Given the description of an element on the screen output the (x, y) to click on. 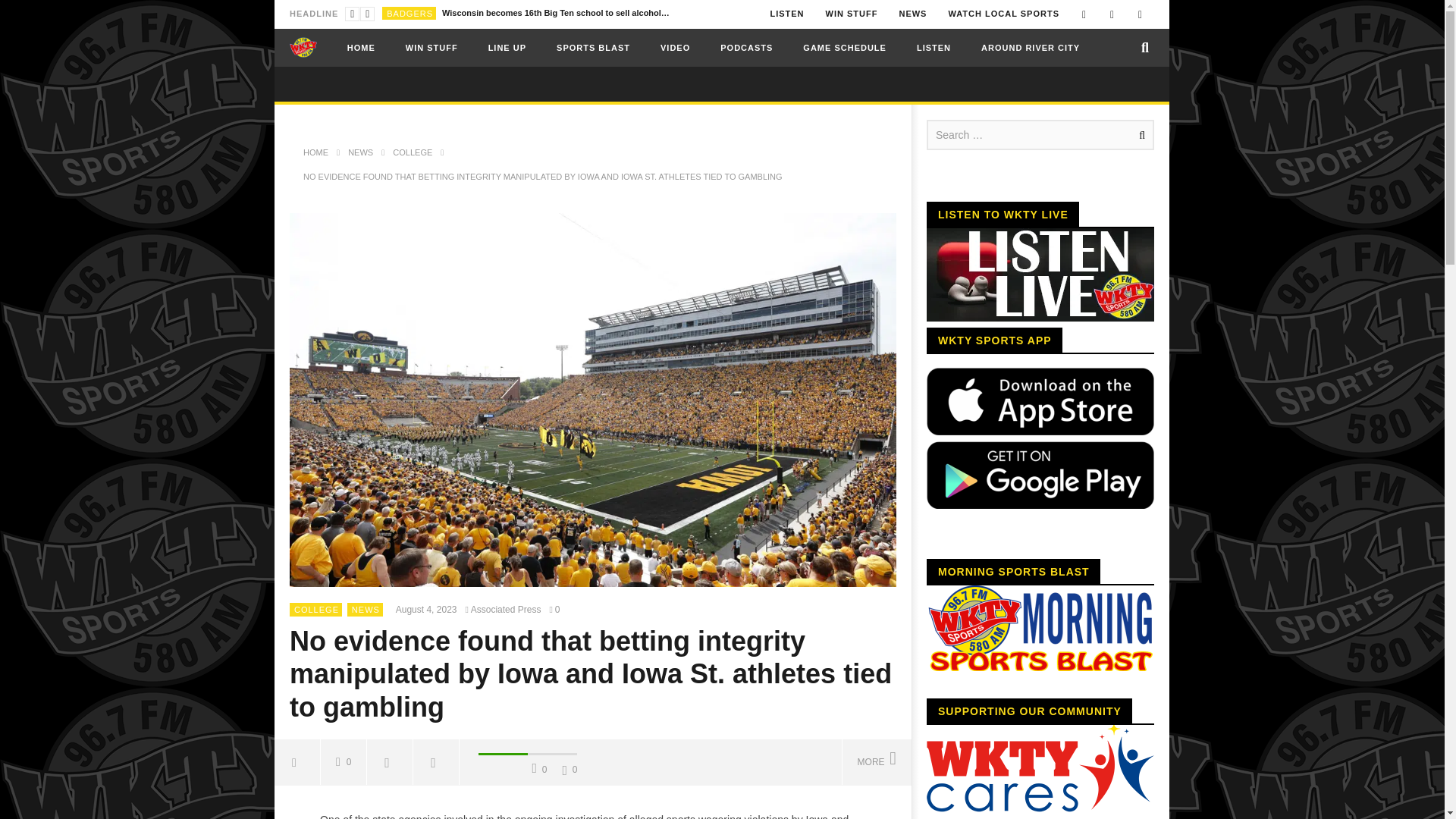
View all posts in BADGERS (409, 13)
WIN STUFF (851, 13)
SPORTS BLAST (593, 47)
WATCH LOCAL SPORTS (1003, 13)
Search (1139, 134)
WIN STUFF (431, 47)
Search (1139, 134)
LINE UP (507, 47)
VIDEO (674, 47)
HOME (360, 47)
PODCASTS (745, 47)
NEWS (912, 13)
